Given the description of an element on the screen output the (x, y) to click on. 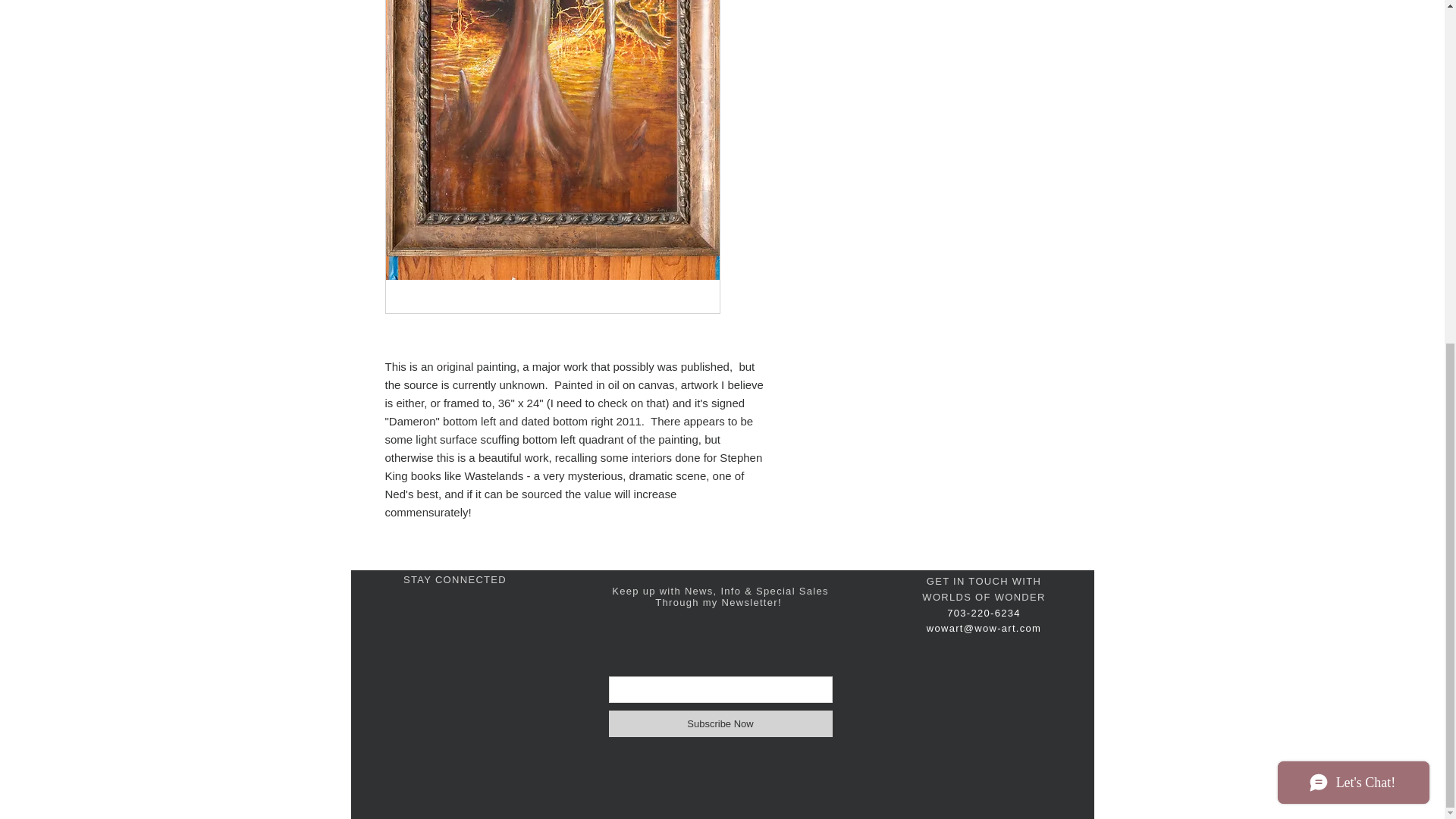
Subscribe Now (719, 723)
KEITH SCAIFE COLLECTION (416, 152)
